Given the description of an element on the screen output the (x, y) to click on. 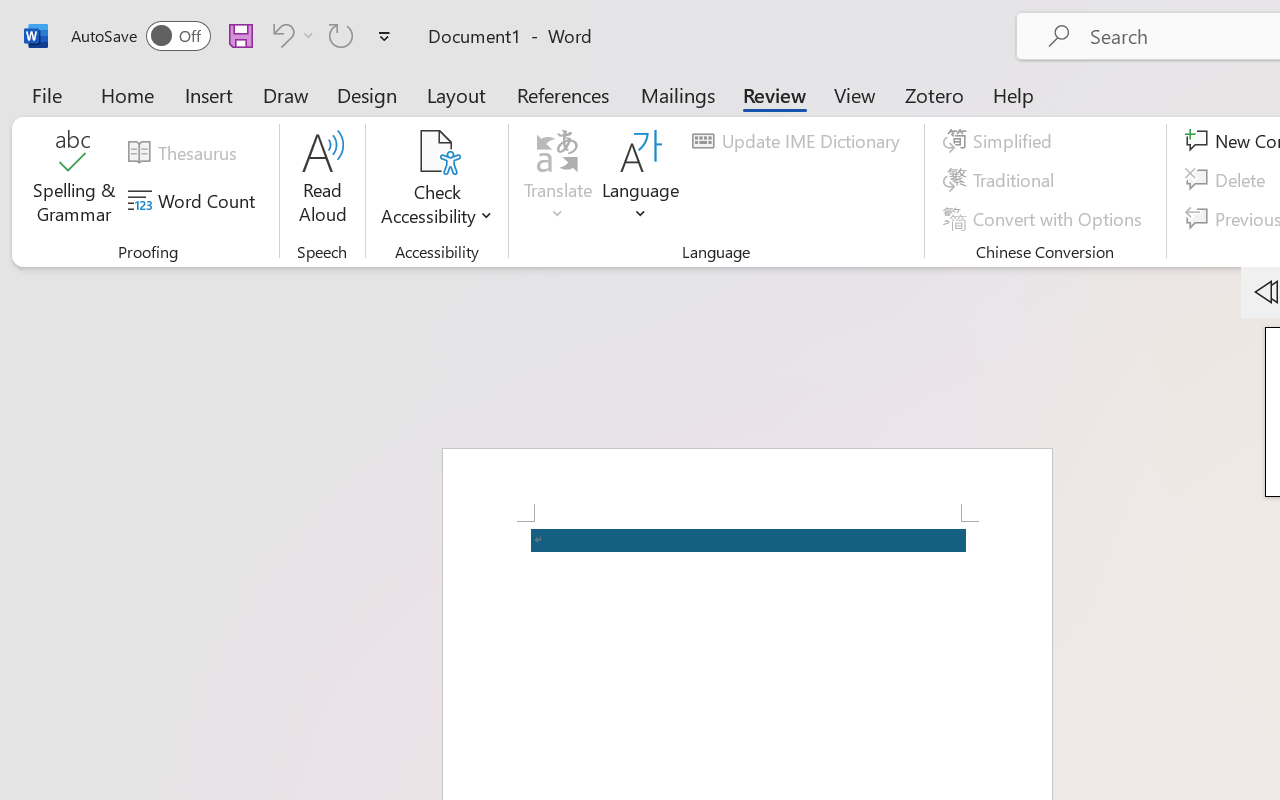
Spelling & Grammar (74, 180)
Check Accessibility (436, 179)
Update IME Dictionary... (799, 141)
